Given the description of an element on the screen output the (x, y) to click on. 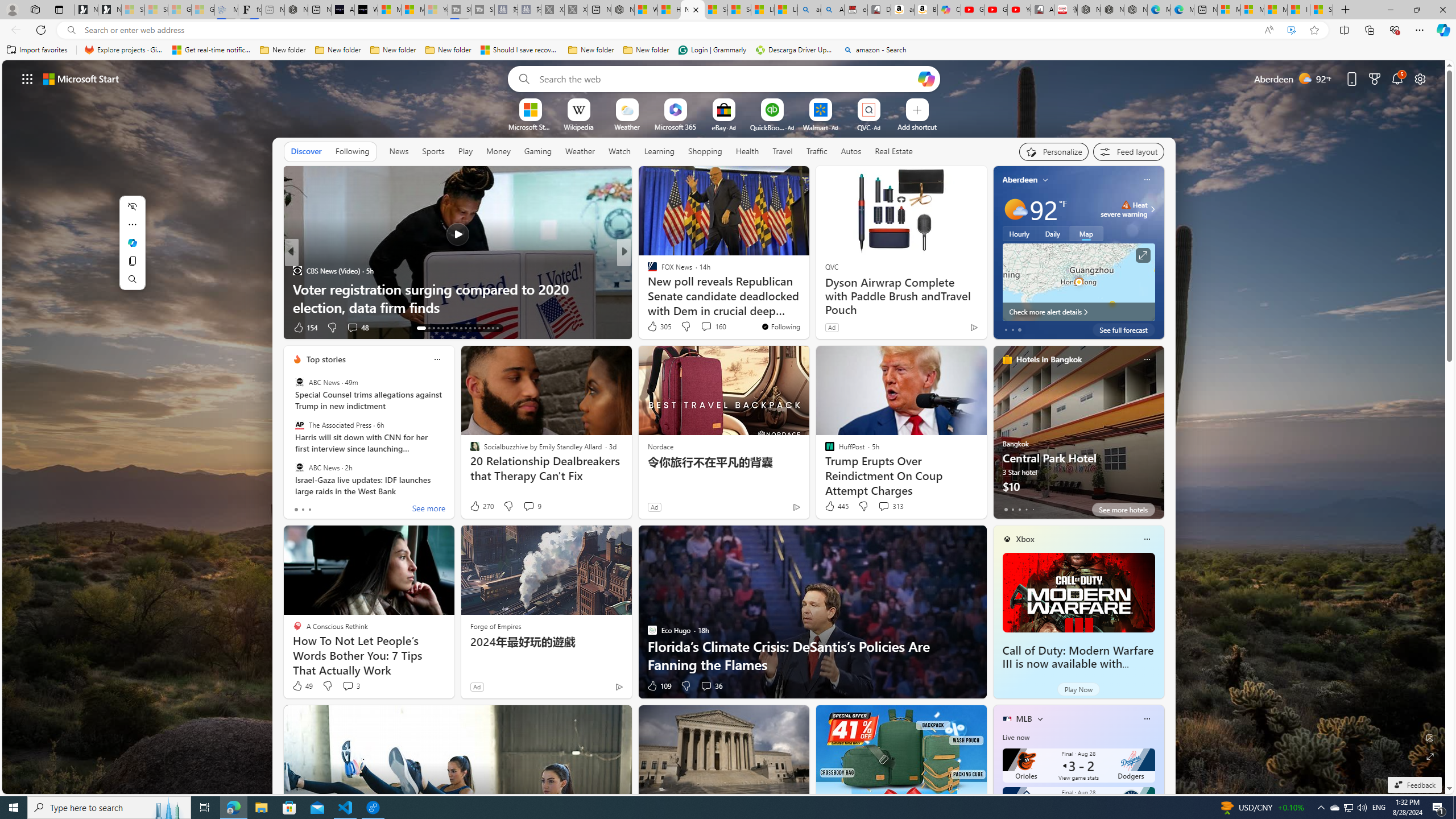
157 Like (654, 327)
AutomationID: tab-25 (478, 328)
View comments 6 Comment (703, 327)
Traffic (816, 151)
Discover (306, 151)
Descarga Driver Updater (794, 49)
tab-1 (1012, 509)
Microsoft account | Privacy (1252, 9)
YouTube Kids - An App Created for Kids to Explore Content (1019, 9)
Add a site (916, 126)
Following (352, 151)
Personal Profile (12, 9)
Microsoft 365 (675, 126)
Nordace - Nordace has arrived Hong Kong (1135, 9)
